Given the description of an element on the screen output the (x, y) to click on. 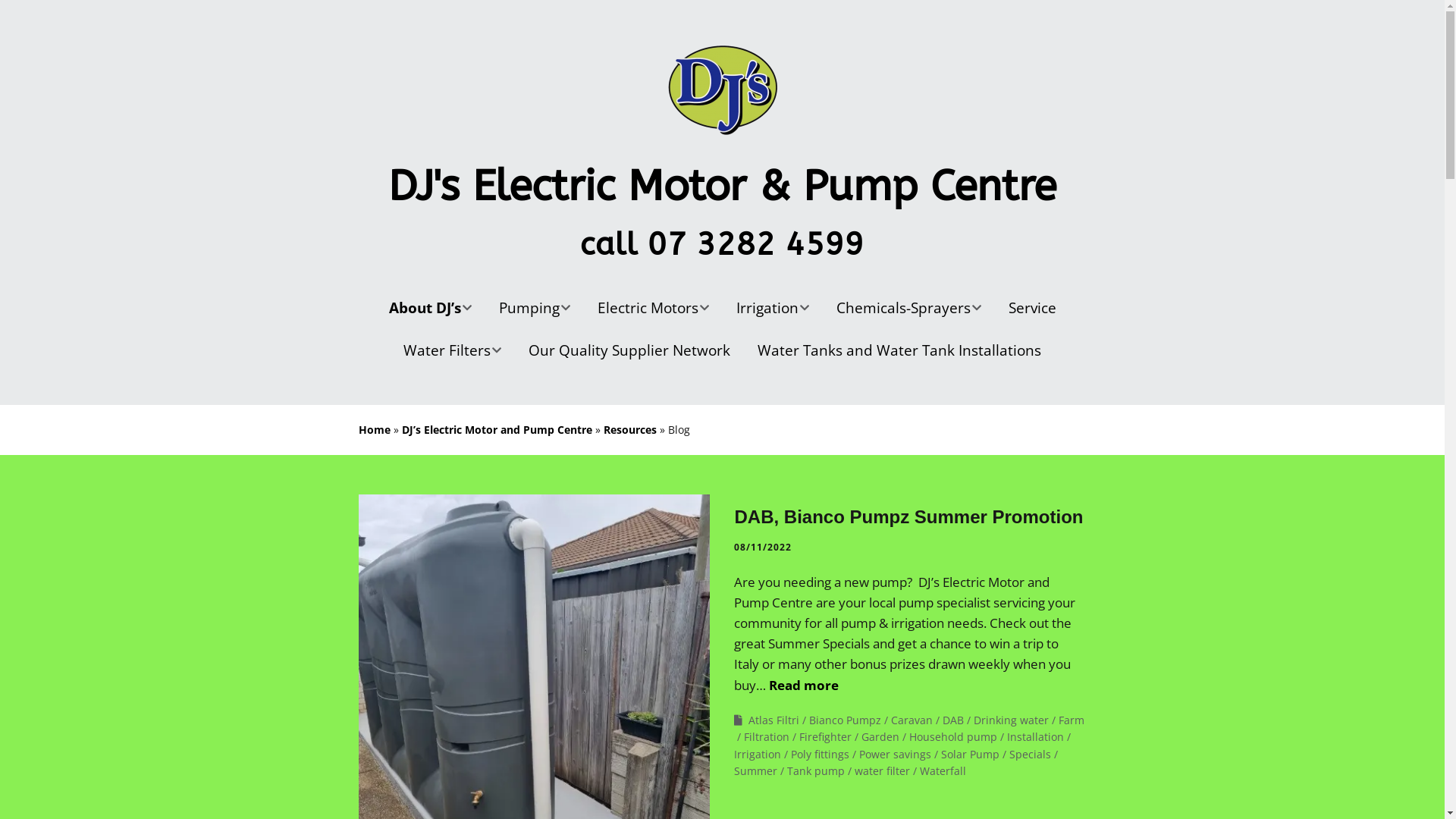
Irrigation Element type: text (757, 754)
Summer Element type: text (755, 770)
Home Element type: text (373, 429)
Electric Motors Element type: text (653, 307)
Irrigation Element type: text (771, 307)
Bianco Pumpz Element type: text (845, 720)
Filtration Element type: text (766, 736)
Atlas Filtri Element type: text (773, 720)
Farm Element type: text (1071, 720)
Caravan Element type: text (911, 720)
Service Element type: text (1032, 307)
Firefighter Element type: text (825, 736)
Our Quality Supplier Network Element type: text (629, 350)
Garden Element type: text (880, 736)
DJ's Electric Motor & Pump Centre Element type: text (722, 185)
Drinking water Element type: text (1010, 720)
Chemicals-Sprayers Element type: text (907, 307)
Waterfall Element type: text (942, 770)
Poly fittings Element type: text (819, 754)
Power savings Element type: text (895, 754)
Read more Element type: text (803, 684)
Water Tanks and Water Tank Installations Element type: text (899, 350)
Tank pump Element type: text (815, 770)
Installation Element type: text (1035, 736)
08/11/2022 Element type: text (762, 546)
water filter Element type: text (882, 770)
Pumping Element type: text (534, 307)
Solar Pump Element type: text (970, 754)
Water Filters Element type: text (452, 350)
DAB Element type: text (952, 720)
Specials Element type: text (1030, 754)
Household pump Element type: text (953, 736)
DAB, Bianco Pumpz Summer Promotion Element type: text (908, 516)
Resources Element type: text (629, 429)
